Given the description of an element on the screen output the (x, y) to click on. 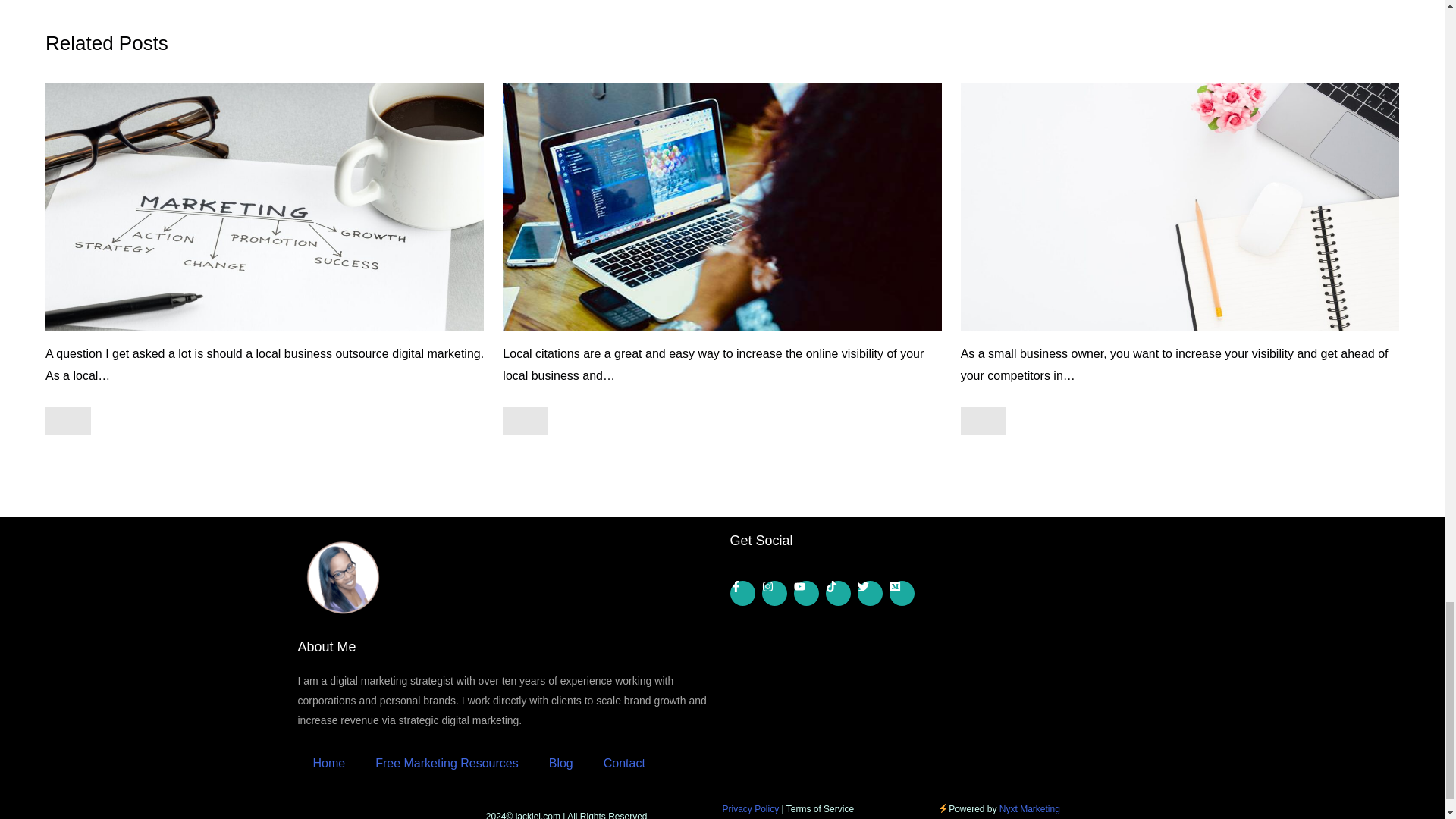
Facebook-f (741, 593)
Privacy Policy (750, 808)
Free Marketing Resources (446, 763)
Tiktok (837, 593)
Nyxt Marketing (1028, 808)
Youtube (805, 593)
Blog (561, 763)
Twitter (869, 593)
Home (328, 763)
Instagram (773, 593)
Contact (624, 763)
Medium (901, 593)
